Given the description of an element on the screen output the (x, y) to click on. 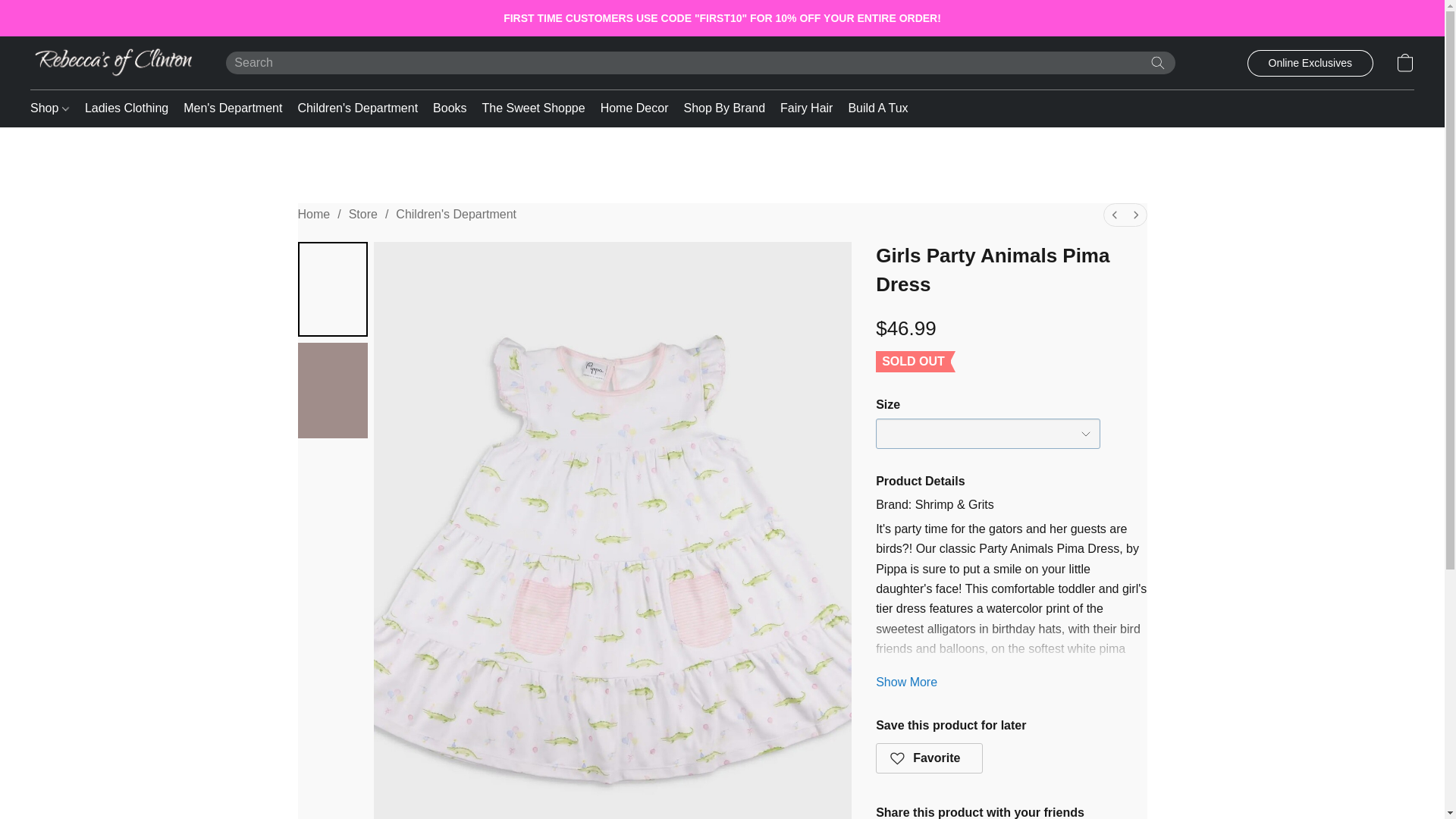
Show More (906, 681)
Online Exclusives (1309, 62)
Children's Department (456, 214)
The Sweet Shoppe (533, 108)
Children's Department (357, 108)
Shop (53, 108)
Store (363, 214)
Go to your shopping cart (1404, 62)
Men's Department (232, 108)
Fairy Hair (806, 108)
Build A Tux (873, 108)
Favorite (929, 757)
Ladies Clothing (126, 108)
Shop By Brand (724, 108)
Home (313, 214)
